Given the description of an element on the screen output the (x, y) to click on. 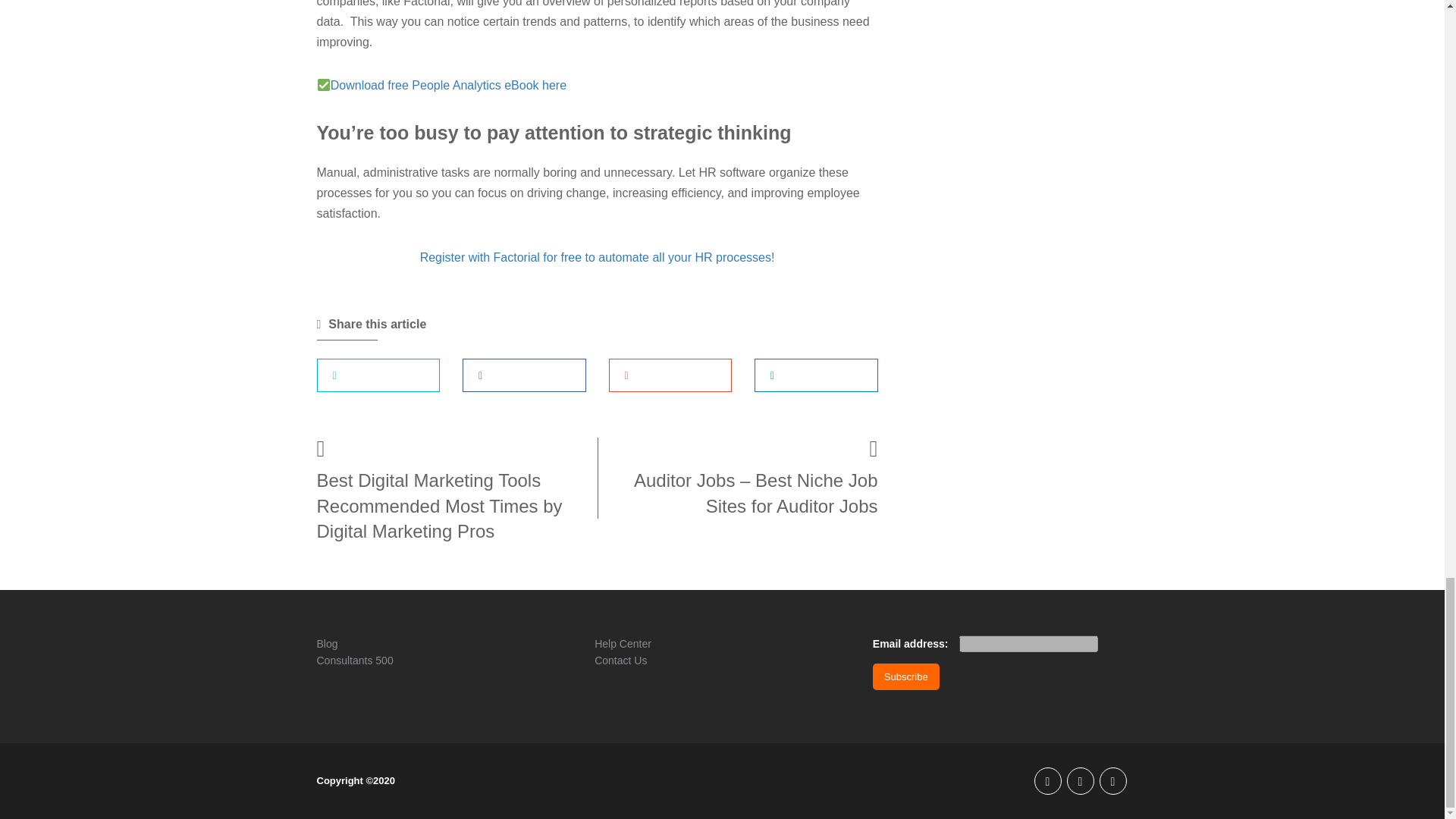
Subscribe (905, 676)
Download free People Analytics eBook here (442, 84)
